Given the description of an element on the screen output the (x, y) to click on. 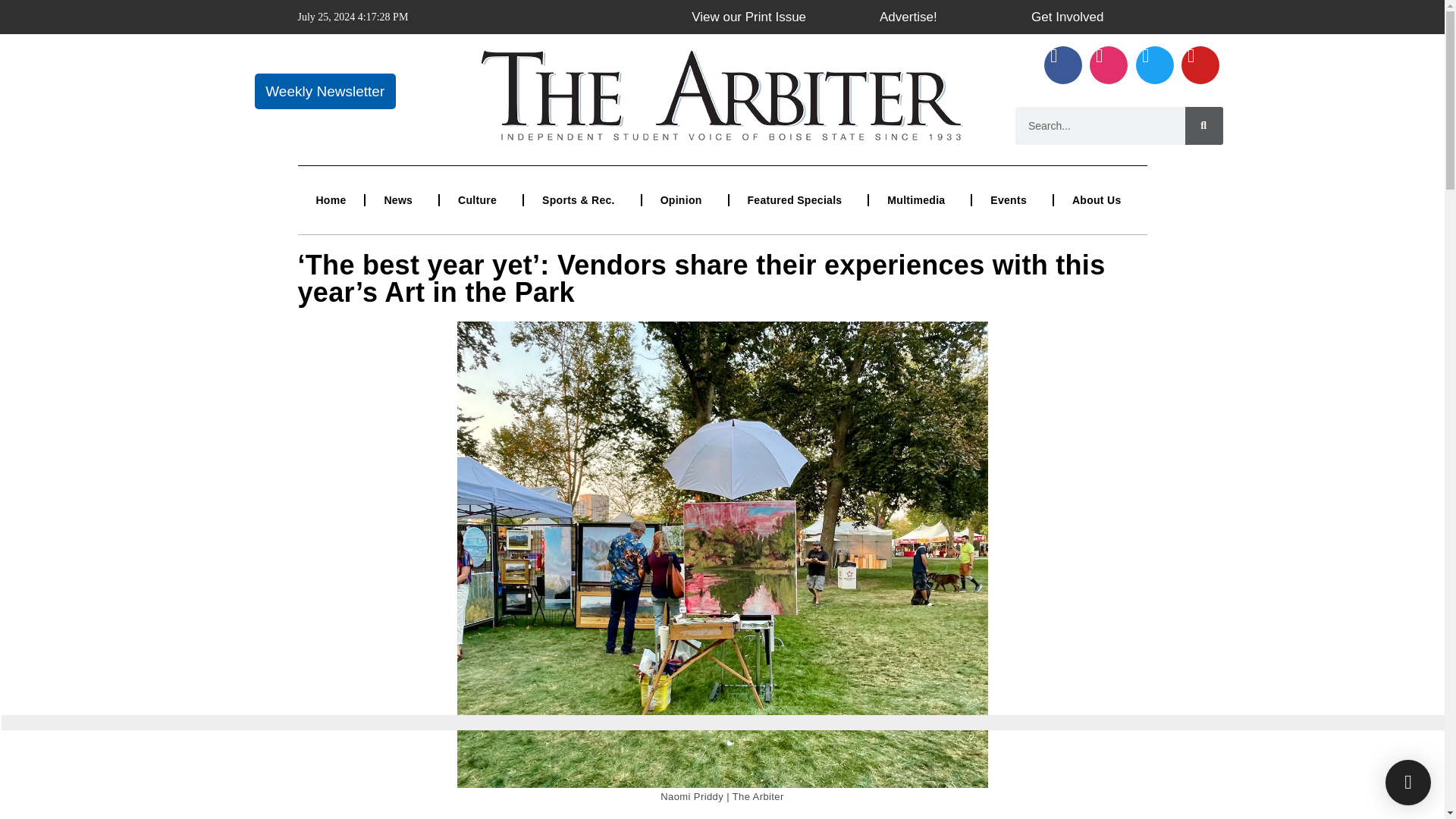
Opinion (685, 199)
Home (330, 199)
Featured Specials (798, 199)
Culture (480, 199)
News (401, 199)
